Given the description of an element on the screen output the (x, y) to click on. 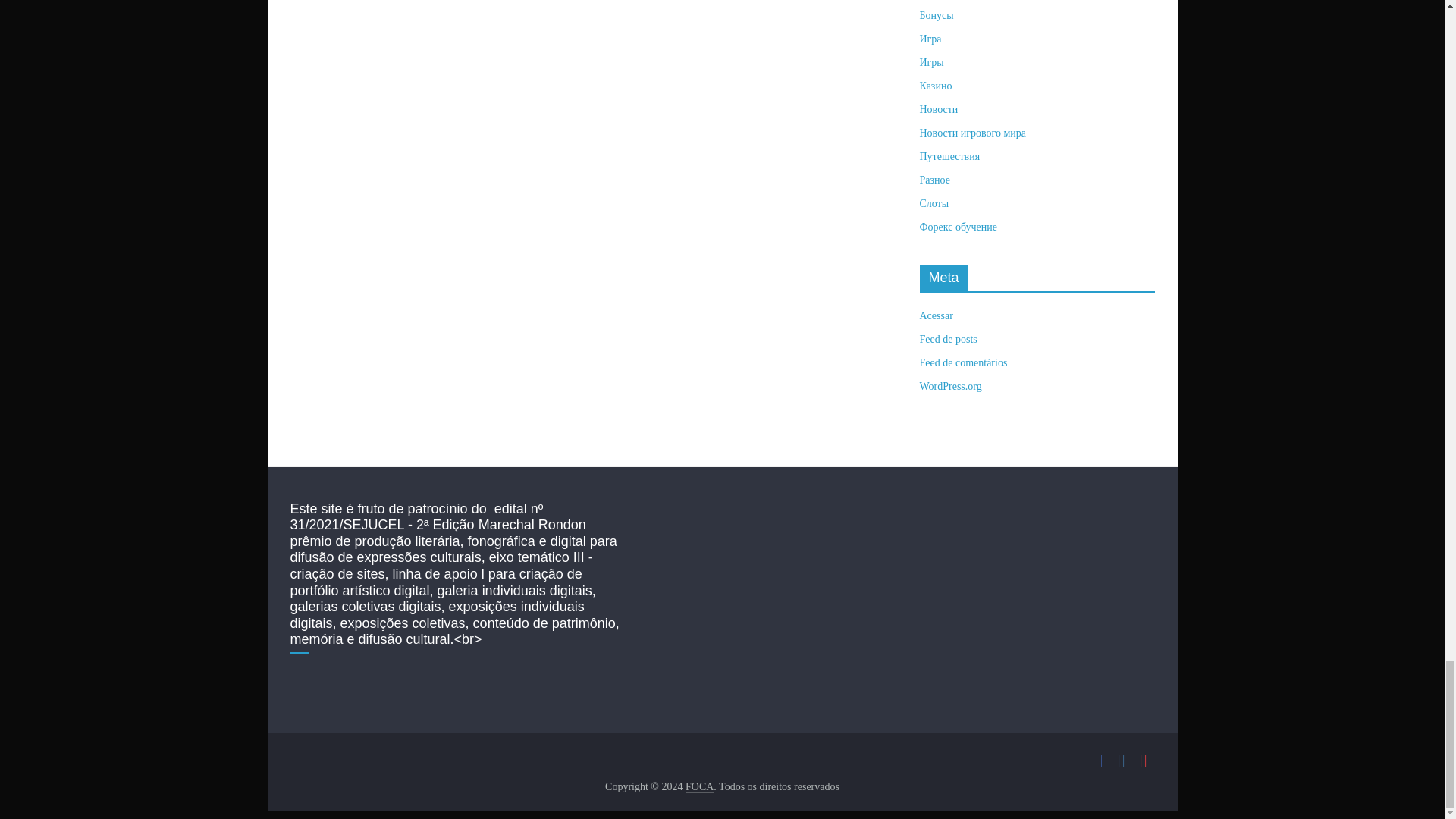
FOCA (699, 787)
